Given the description of an element on the screen output the (x, y) to click on. 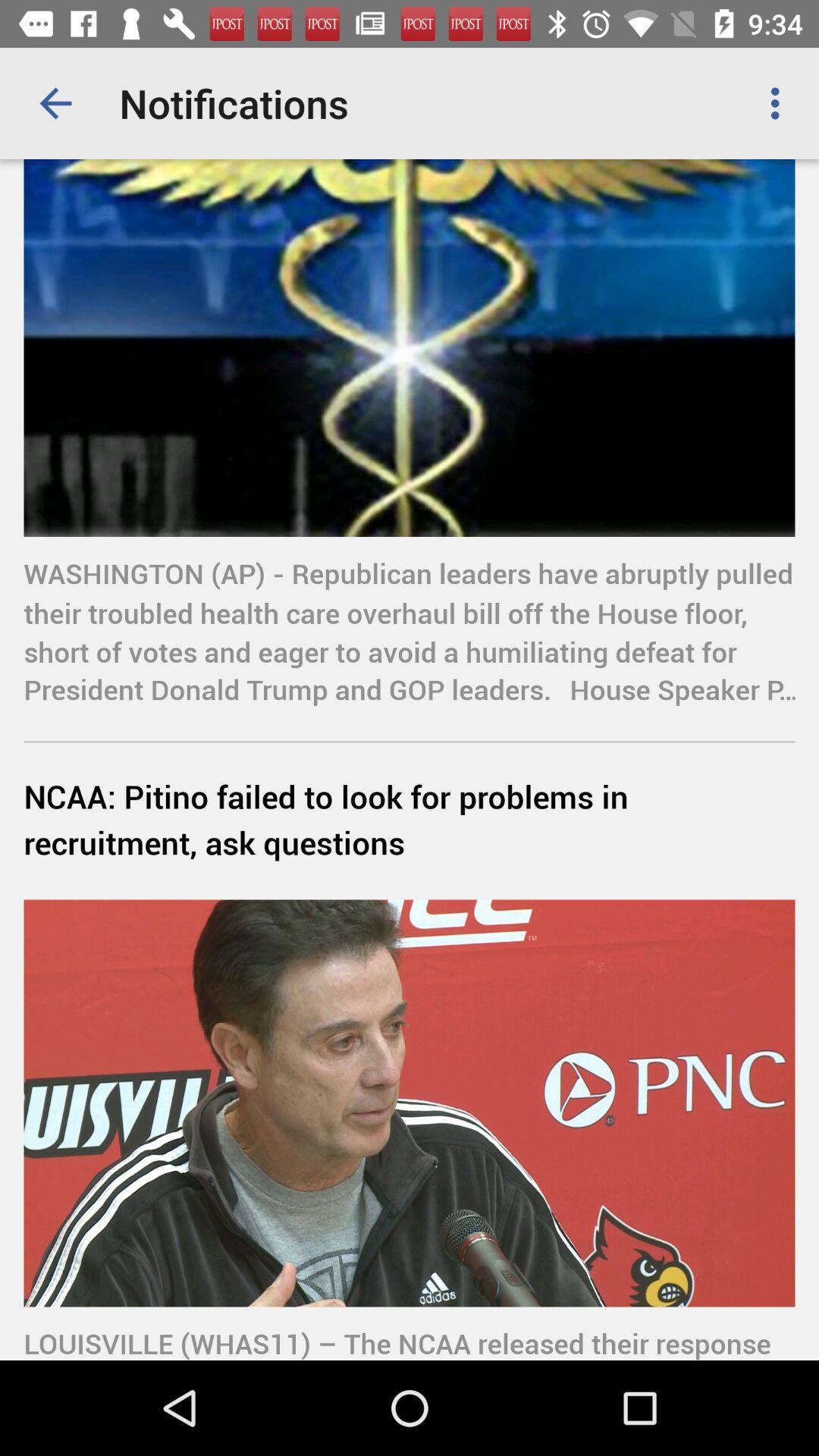
press the icon next to the notifications (779, 103)
